Given the description of an element on the screen output the (x, y) to click on. 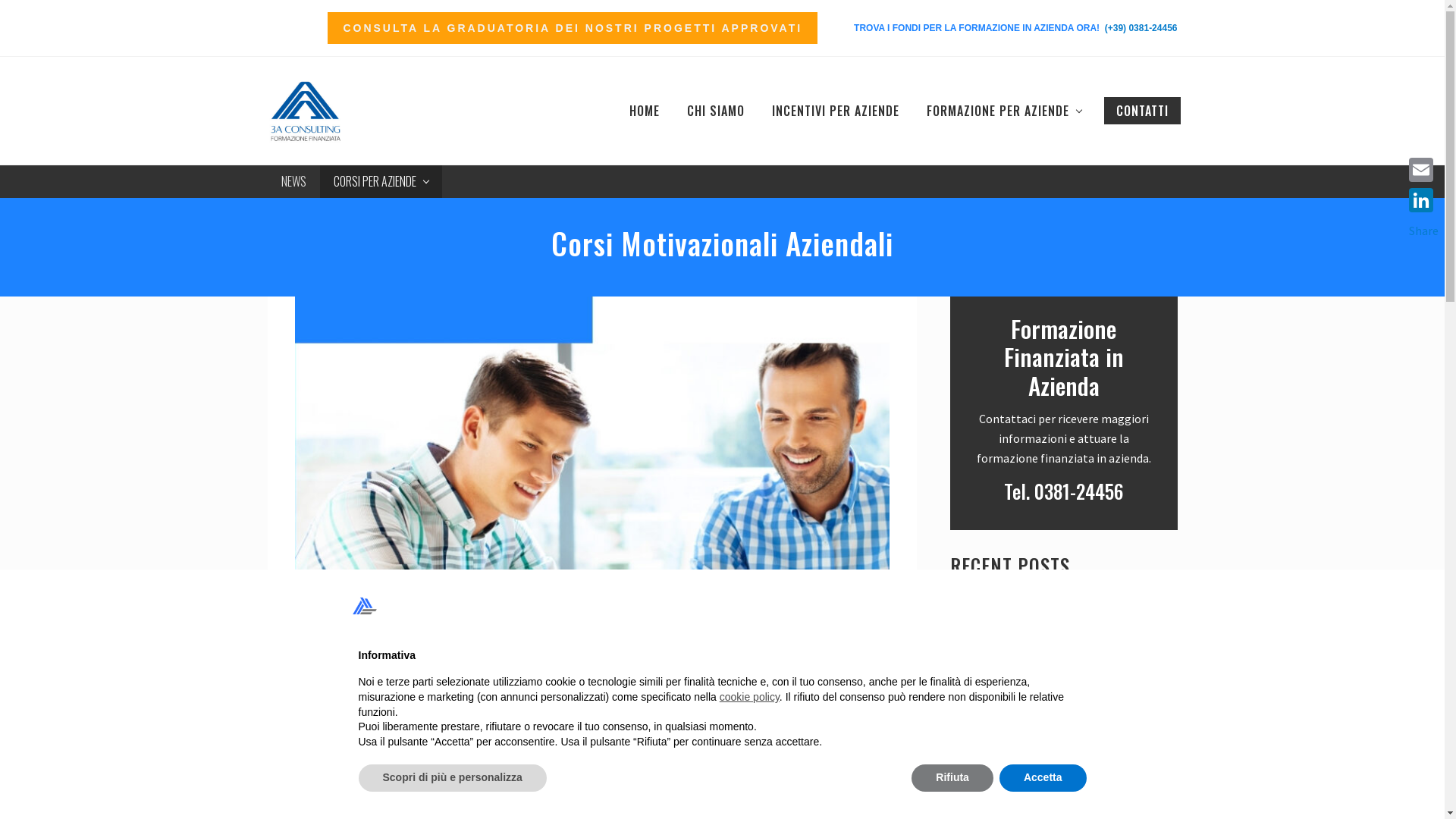
(+39) 0381-24456 Element type: text (1140, 27)
HOME Element type: text (644, 110)
CORSI PER AZIENDE Element type: text (381, 180)
CONTATTI Element type: text (1142, 110)
Accetta Element type: text (1042, 777)
cookie policy Element type: text (749, 696)
Share Element type: text (1423, 230)
Email Element type: text (1423, 169)
FORMAZIONE PER AZIENDE Element type: text (1003, 110)
CHI SIAMO Element type: text (715, 110)
Skip to right header navigation Element type: text (0, 0)
CONSULTA LA GRADUATORIA DEI NOSTRI PROGETTI APPROVATI Element type: text (572, 27)
INCENTIVI PER AZIENDE Element type: text (835, 110)
Rifiuta Element type: text (952, 777)
LinkedIn Element type: text (1423, 200)
Approvati i nuovi percorsi finanziati da Fonarcom Element type: text (1091, 740)
NEWS Element type: text (292, 180)
